Given the description of an element on the screen output the (x, y) to click on. 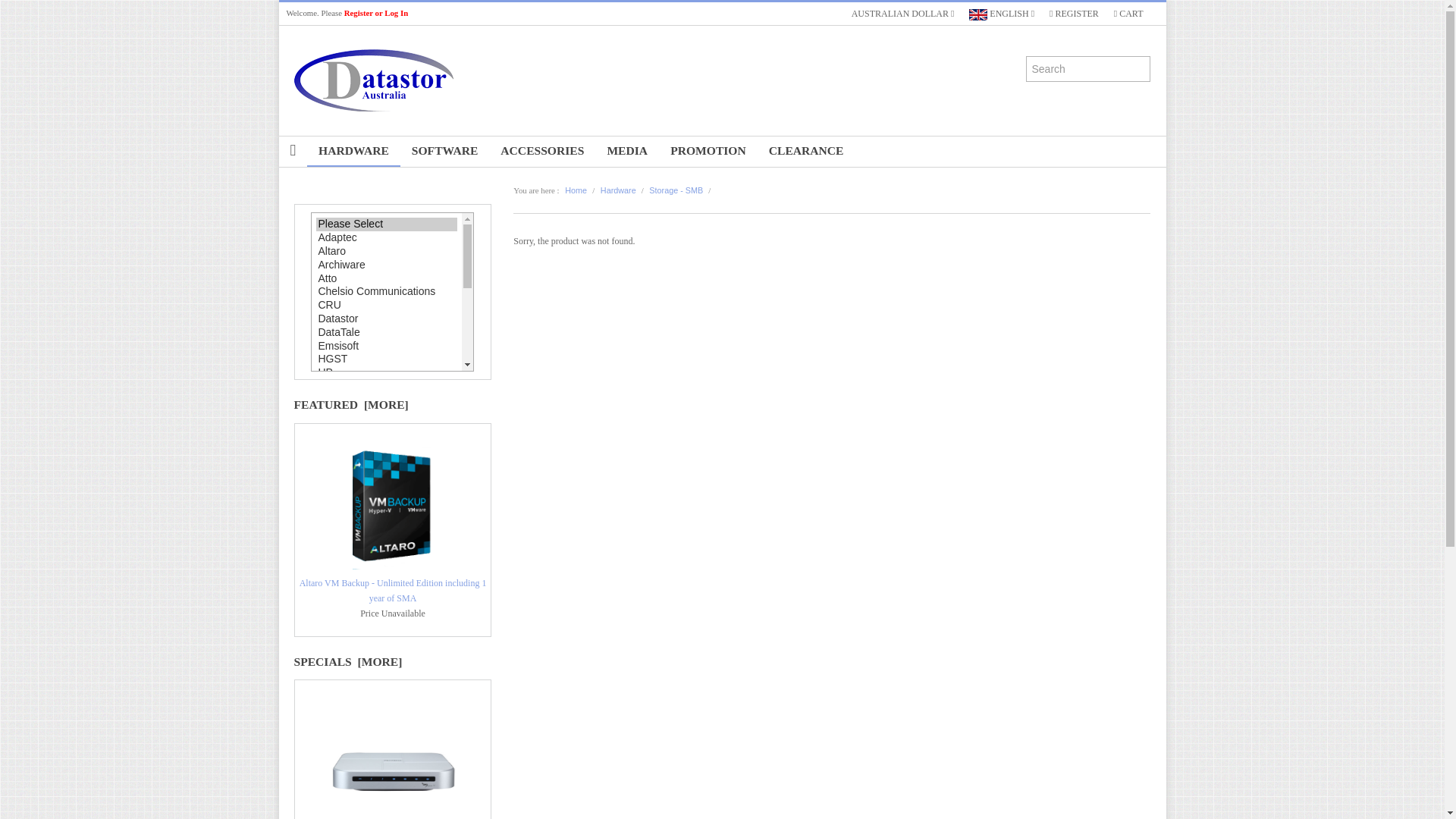
SPECIALS  [MORE] Element type: text (348, 661)
MEDIA Element type: text (626, 150)
HARDWARE Element type: text (353, 151)
FEATURED  [MORE] Element type: text (351, 404)
 English  Element type: hover (978, 14)
Altaro VM Backup - Standard Edition including 1 year of SMA Element type: text (392, 551)
SOFTWARE Element type: text (444, 150)
CLEARANCE Element type: text (806, 150)
Register or Log In Element type: text (375, 12)
Home Element type: text (575, 189)
 Datastor Australia  Element type: hover (403, 80)
Storage - SMB Element type: text (675, 189)
ACCESSORIES Element type: text (542, 150)
Hardware Element type: text (618, 189)
AUSTRALIAN DOLLAR Element type: text (903, 13)
PROMOTION Element type: text (707, 150)
 ENGLISH Element type: text (1001, 13)
REGISTER Element type: text (1073, 13)
CART Element type: text (1128, 13)
